Given the description of an element on the screen output the (x, y) to click on. 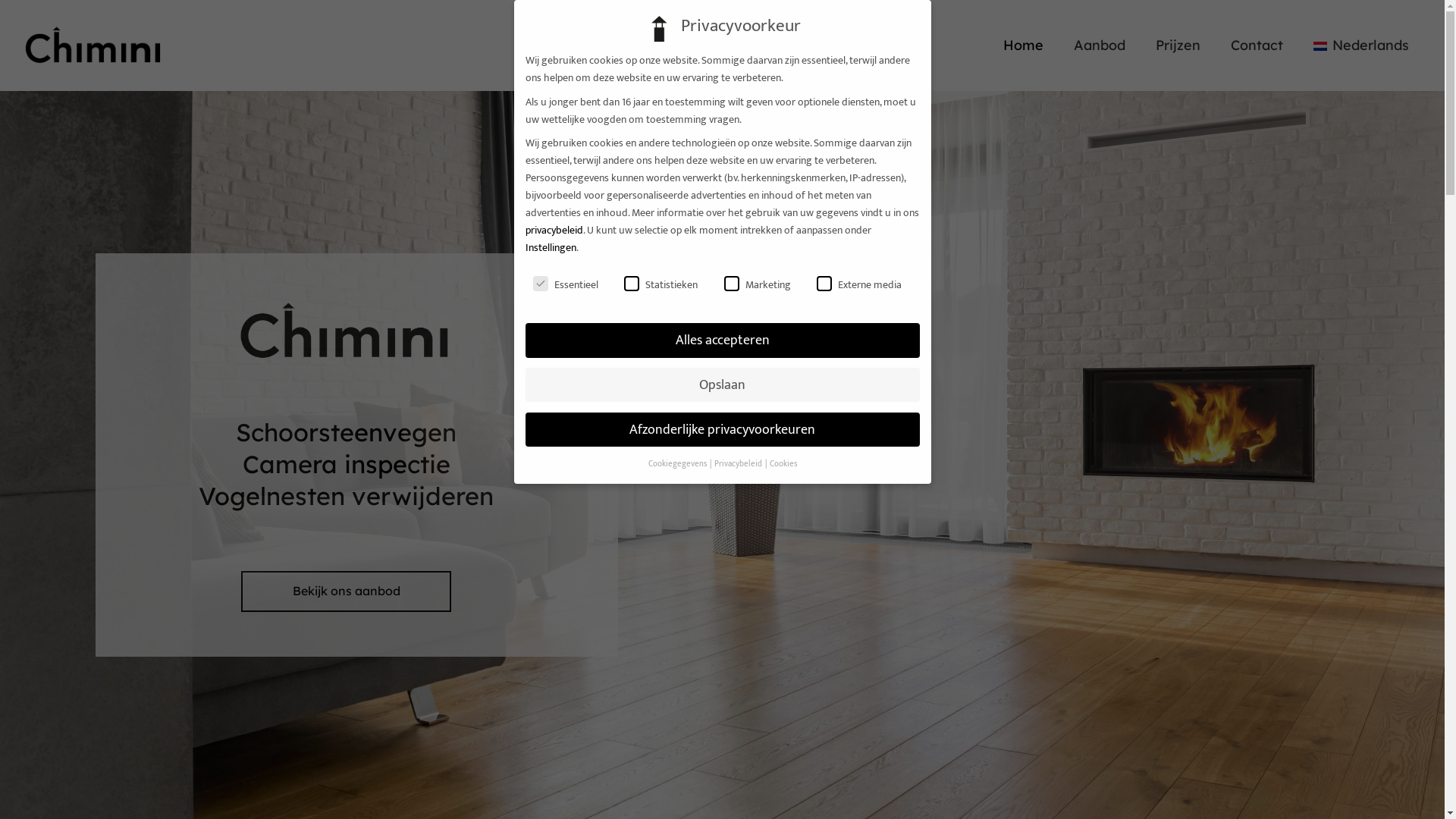
Aanbod Element type: text (1099, 45)
privacybeleid Element type: text (553, 229)
Contact Element type: text (1256, 45)
Bekijk ons aanbod Element type: text (345, 591)
Alles accepteren Element type: text (721, 340)
Prijzen Element type: text (1177, 45)
Opslaan Element type: text (721, 384)
Instellingen Element type: text (549, 247)
Nederlands Element type: text (1361, 45)
Privacybeleid Element type: text (738, 463)
Afzonderlijke privacyvoorkeuren Element type: text (721, 429)
Cookies Element type: text (782, 463)
Cookiegegevens Element type: text (677, 463)
Home Element type: text (1023, 45)
